Given the description of an element on the screen output the (x, y) to click on. 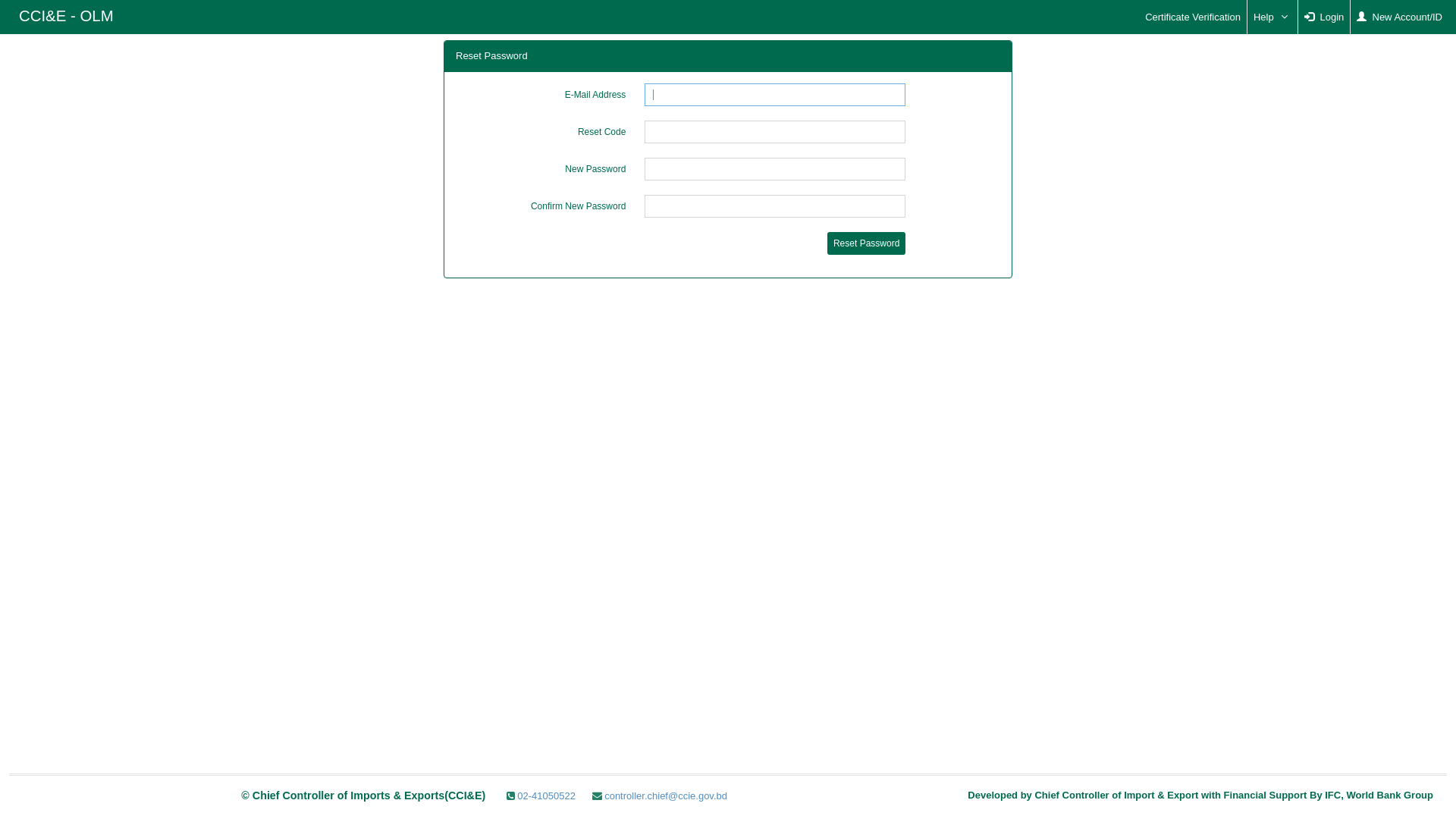
CCI&E - OLM Element type: text (66, 15)
Reset Password Element type: text (866, 243)
 New Account/ID Element type: text (1399, 17)
02-41050522 Element type: text (540, 795)
 Login Element type: text (1323, 17)
Help Element type: text (1272, 17)
controller.chief@ccie.gov.bd Element type: text (659, 795)
Certificate Verification Element type: text (1192, 17)
